Given the description of an element on the screen output the (x, y) to click on. 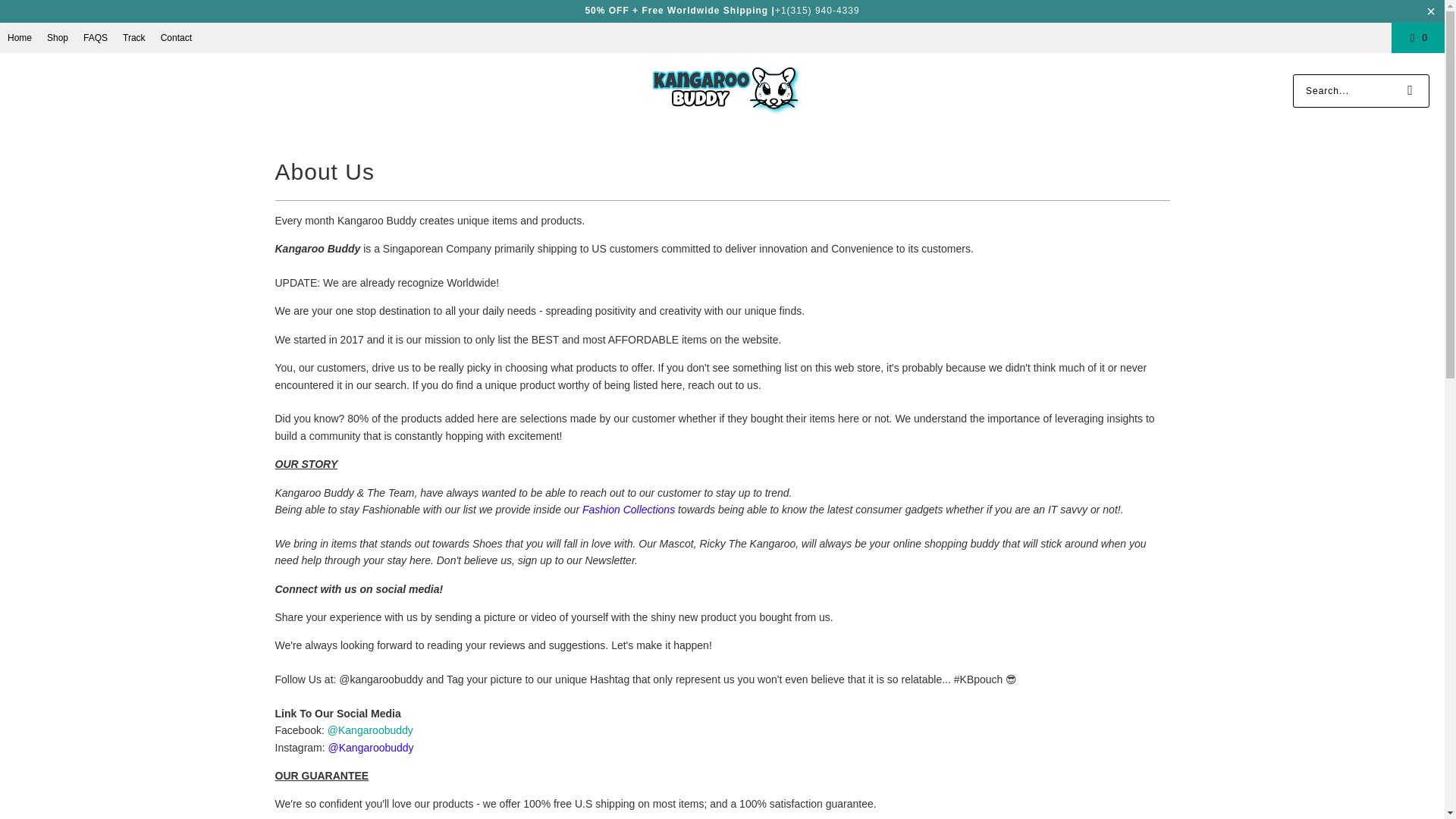
Home (19, 37)
Shop (57, 37)
Kangaroobuddy Instagram (371, 747)
Fashion Collections (628, 509)
Kangaroobuddy Facebook (370, 729)
Fashion Collections - KangarooBuddy (628, 509)
FAQS (94, 37)
Contact (176, 37)
Track (133, 37)
Kangaroo Buddy (727, 90)
